Given the description of an element on the screen output the (x, y) to click on. 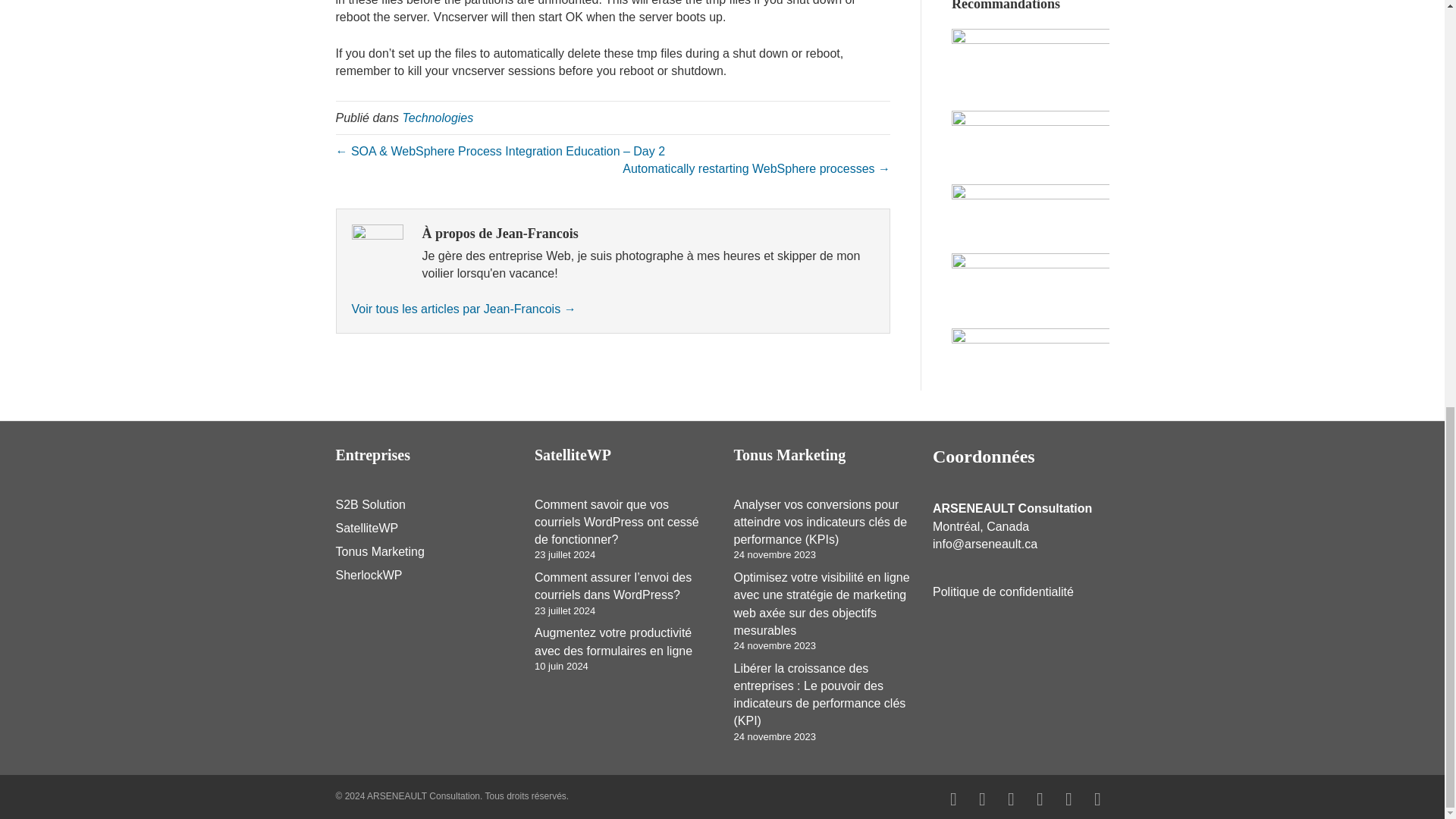
Tonus Marketing (378, 551)
SatelliteWP (365, 527)
Technologies (438, 117)
S2B Solution (370, 504)
